Given the description of an element on the screen output the (x, y) to click on. 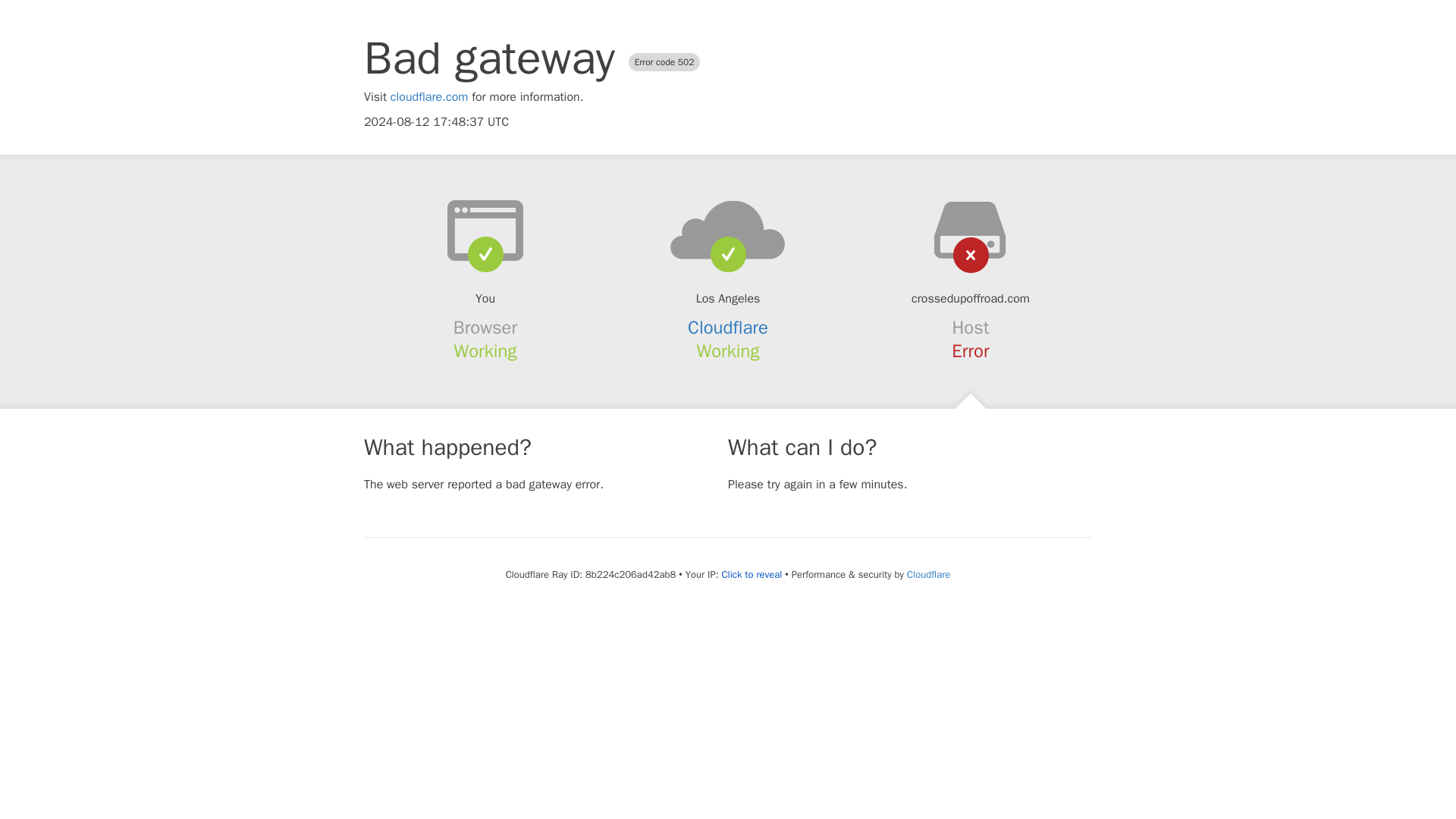
Cloudflare (727, 327)
Click to reveal (750, 574)
cloudflare.com (429, 96)
Cloudflare (928, 574)
